Given the description of an element on the screen output the (x, y) to click on. 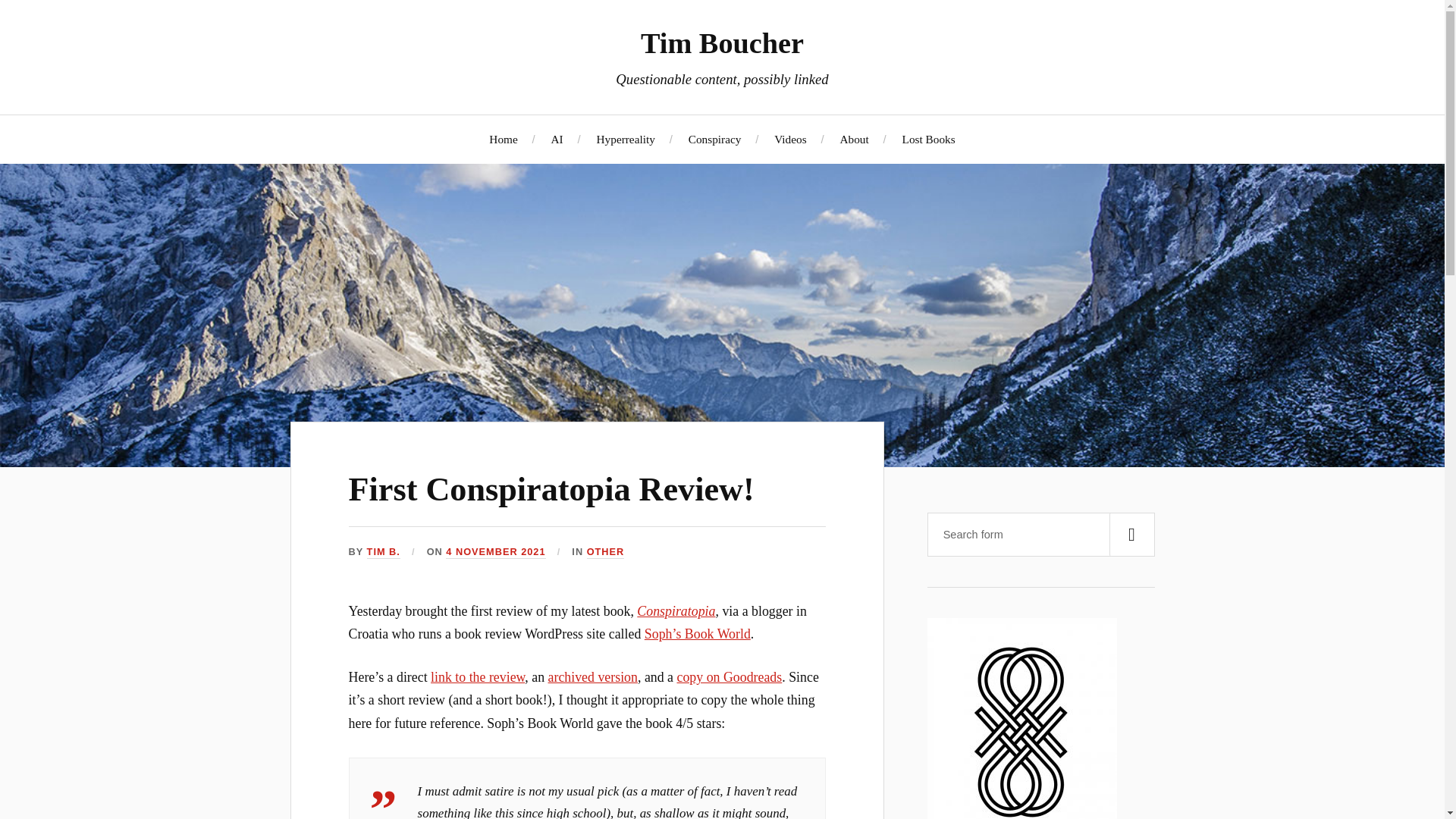
Tim Boucher (721, 42)
4 NOVEMBER 2021 (494, 552)
Posts by Tim B. (383, 552)
Conspiratopia (675, 611)
Hyperreality (625, 138)
archived version (592, 676)
Conspiracy (714, 138)
link to the review (477, 676)
copy on Goodreads (729, 676)
First Conspiratopia Review! (551, 488)
Lost Books (928, 138)
OTHER (605, 552)
TIM B. (383, 552)
